Given the description of an element on the screen output the (x, y) to click on. 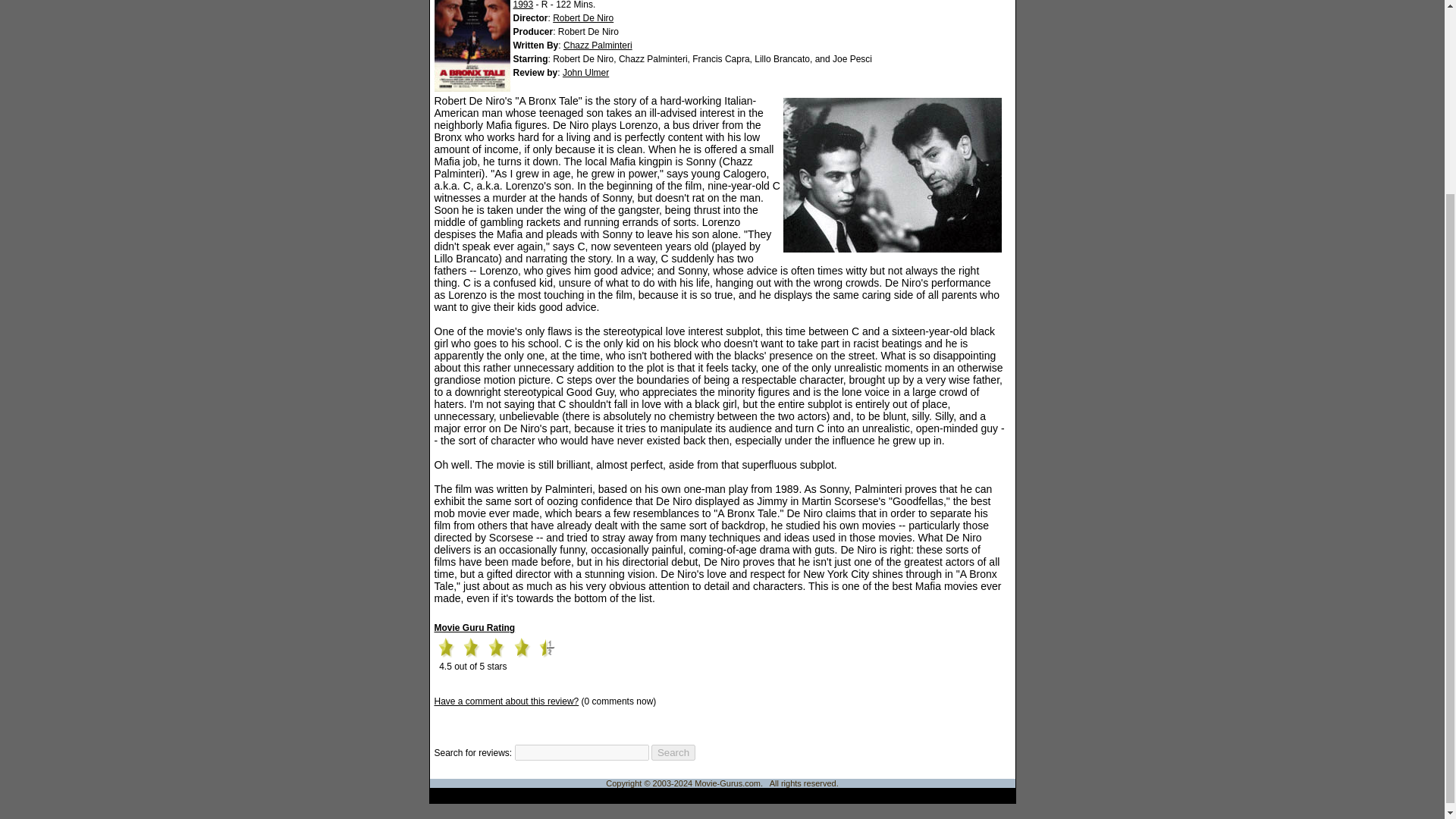
Search (672, 752)
